Given the description of an element on the screen output the (x, y) to click on. 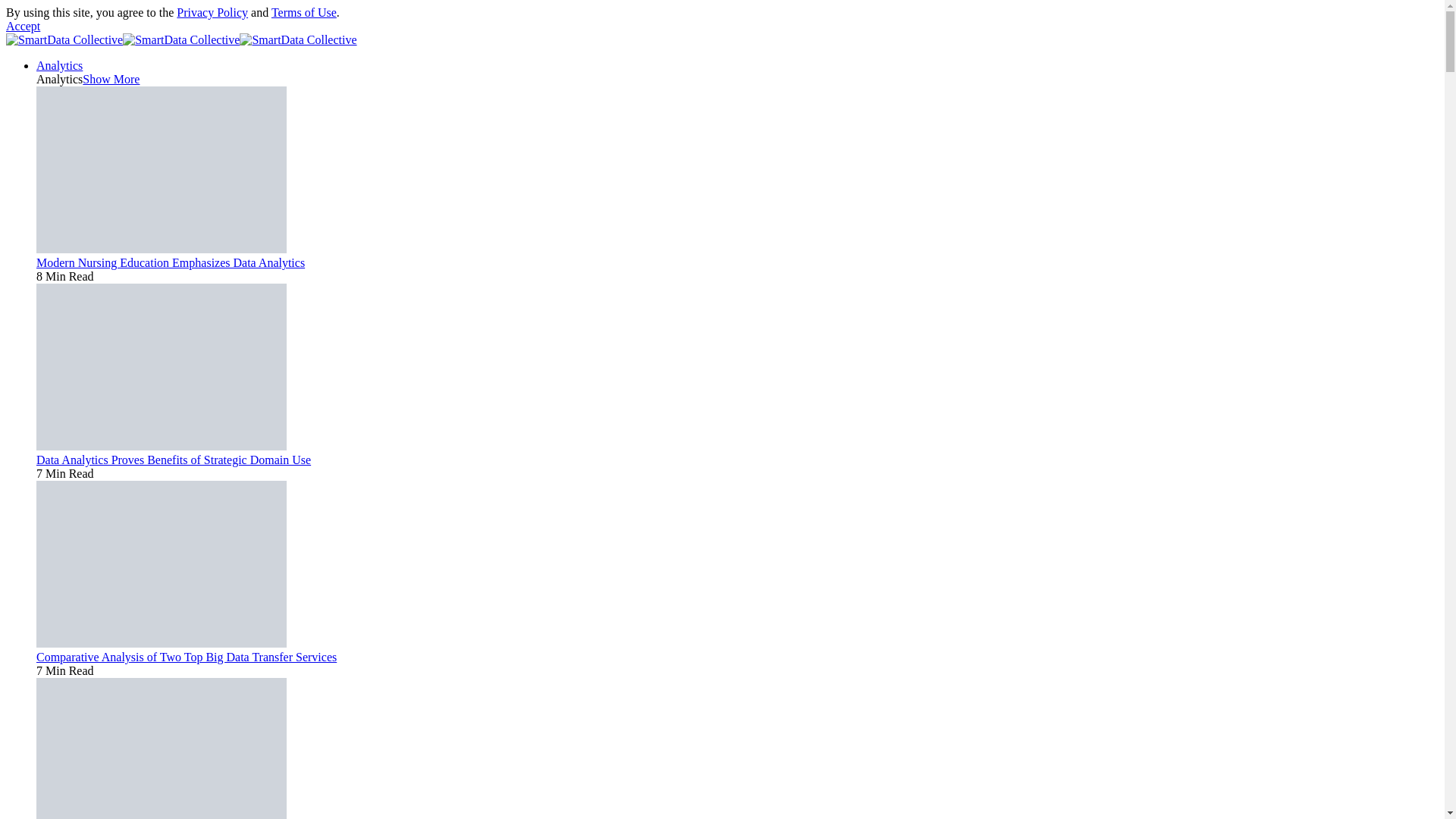
Accept (22, 25)
Modern Nursing Education Emphasizes Data Analytics (170, 262)
Comparative Analysis of Two Top Big Data Transfer Services (186, 656)
Privacy Policy (211, 11)
Data Analytics Proves Benefits of Strategic Domain Use (161, 445)
Show More (110, 78)
Data Analytics Proves Benefits of Strategic Domain Use (173, 459)
SmartData Collective (180, 39)
Modern Nursing Education Emphasizes Data Analytics (161, 248)
Terms of Use (303, 11)
Analytics (59, 65)
Comparative Analysis of Two Top Big Data Transfer Services (161, 643)
